Given the description of an element on the screen output the (x, y) to click on. 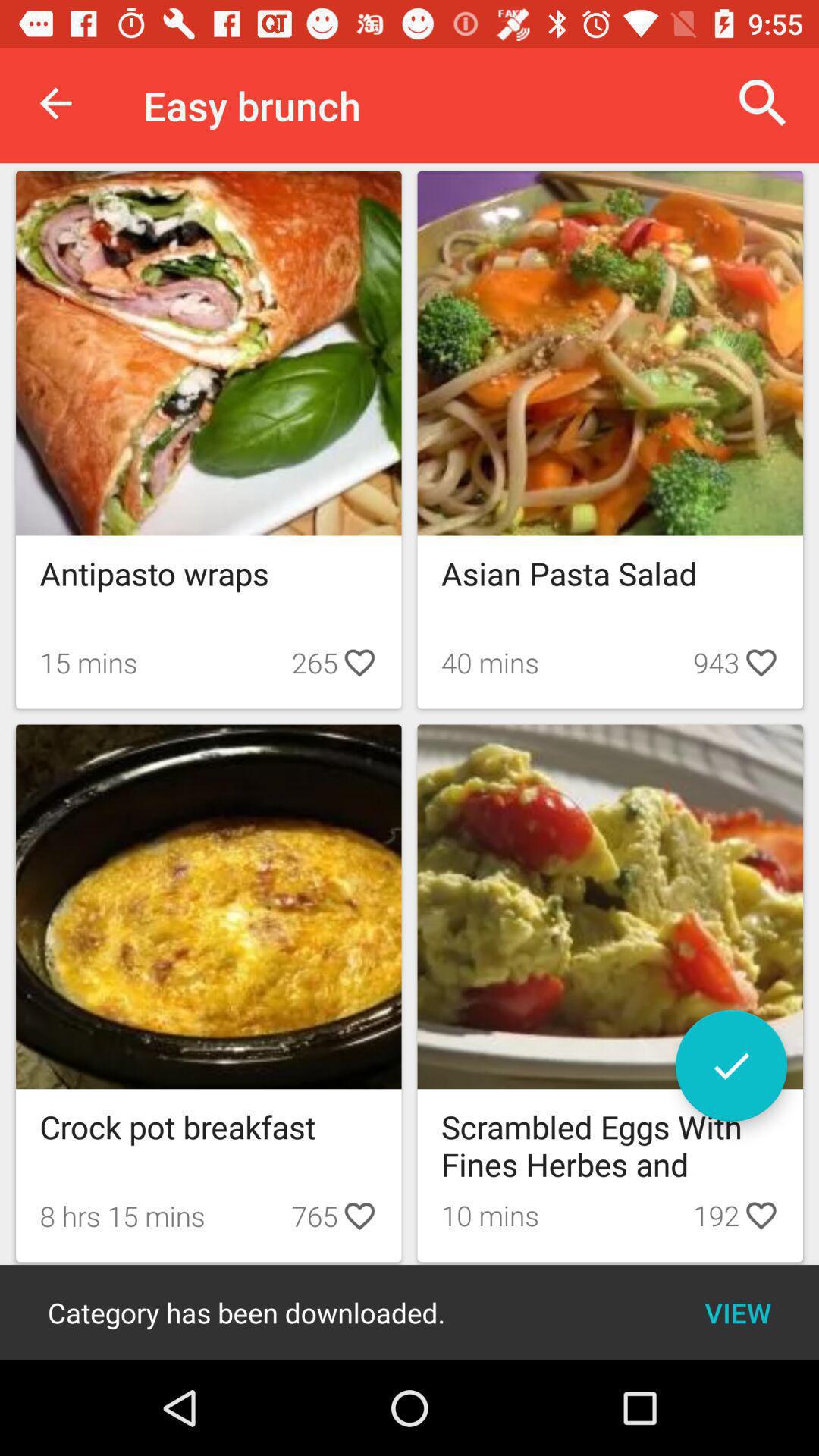
press icon below the 192 icon (737, 1312)
